Given the description of an element on the screen output the (x, y) to click on. 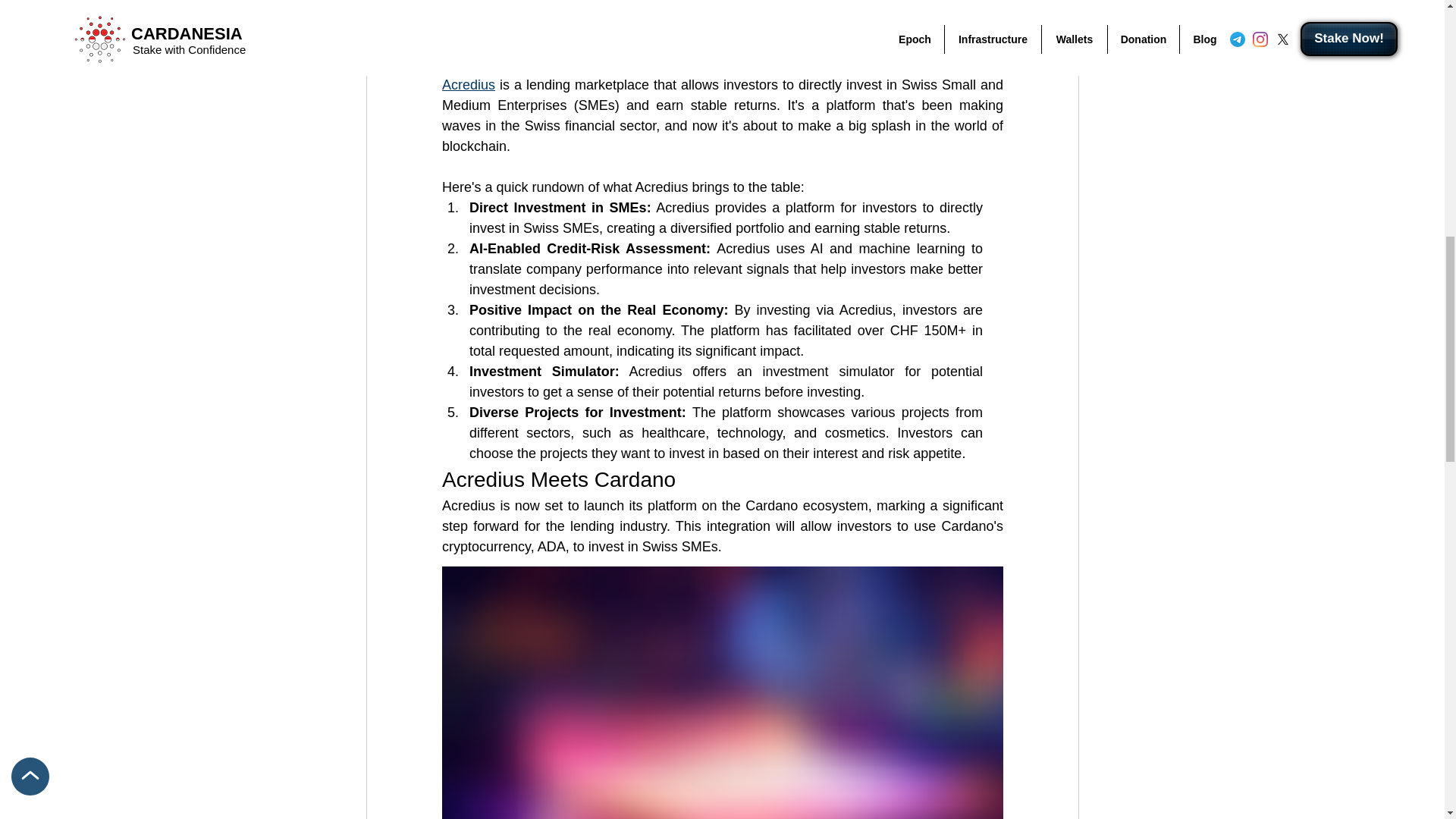
Acredius (468, 84)
